Given the description of an element on the screen output the (x, y) to click on. 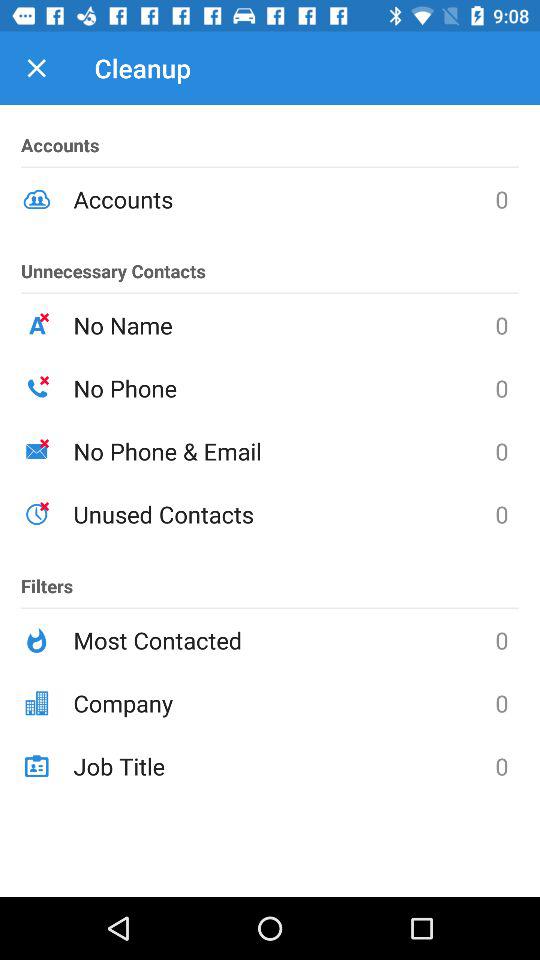
flip until most contacted icon (284, 639)
